Given the description of an element on the screen output the (x, y) to click on. 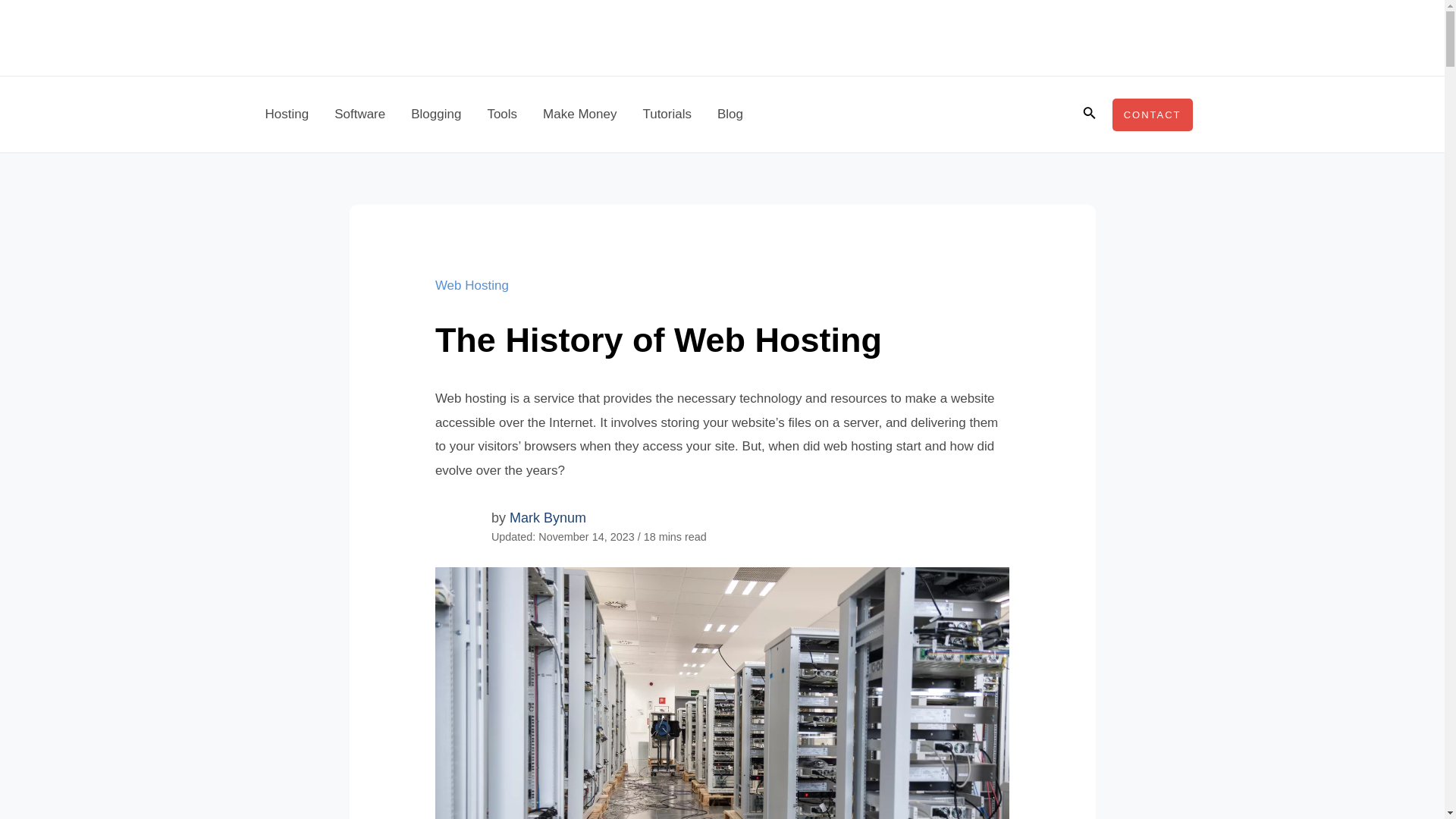
Software (359, 114)
Tutorials (666, 114)
Make Money (578, 114)
Hosting (286, 114)
Web Hosting (471, 285)
Blogging (435, 114)
CONTACT (1152, 114)
Mark Bynum (547, 517)
